Given the description of an element on the screen output the (x, y) to click on. 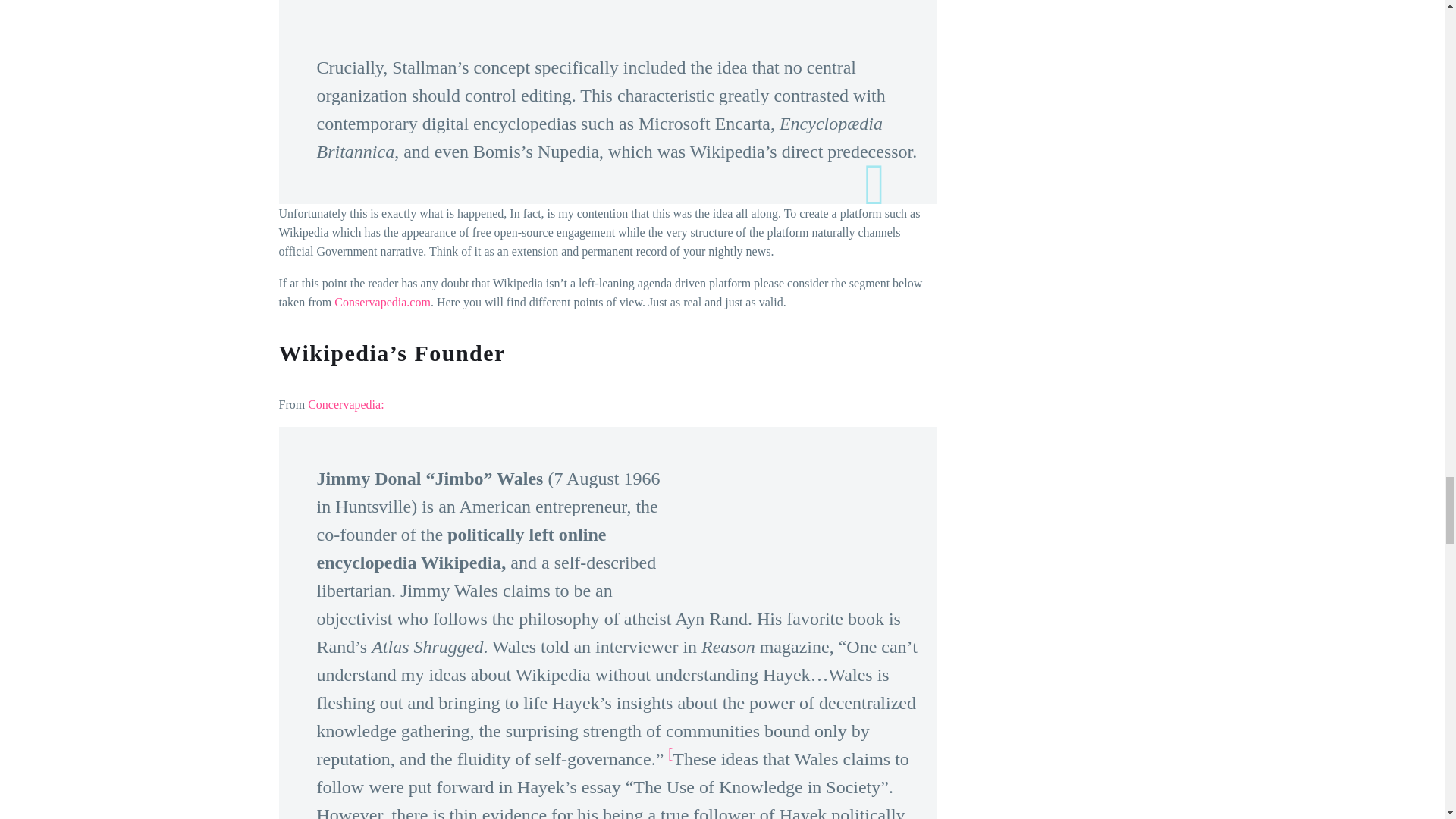
Conservapedia.com (382, 301)
